Given the description of an element on the screen output the (x, y) to click on. 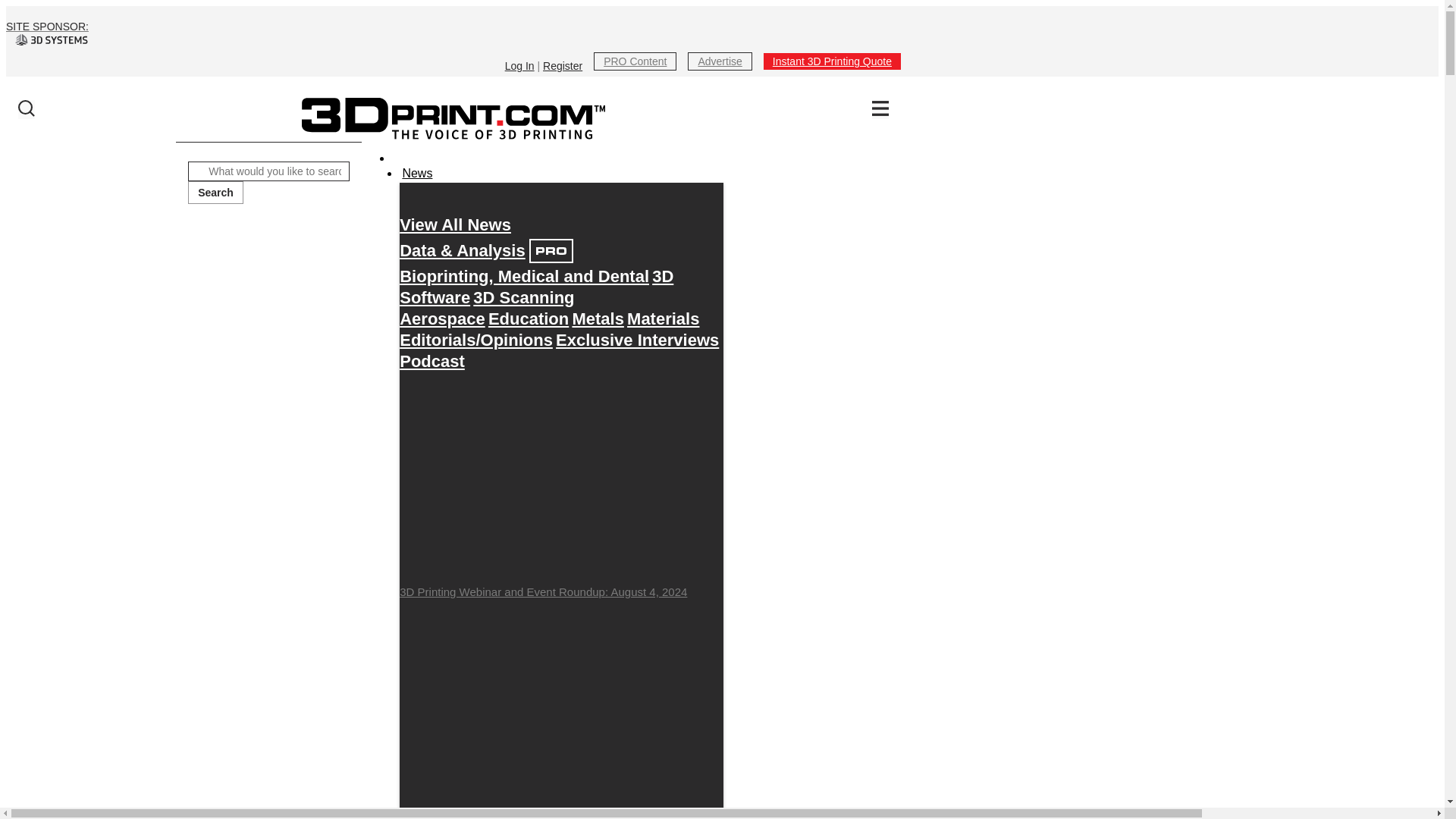
Bioprinting, Medical and Dental (523, 276)
Podcast (431, 360)
3D Scanning (523, 297)
Advertise (719, 60)
PRO Content (635, 60)
Aerospace (441, 318)
3D Printing Webinar and Event Roundup: August 4, 2024 (560, 485)
Instant 3D Printing Quote (831, 60)
Register (562, 65)
Log In (519, 65)
View All News (454, 224)
Metals (597, 318)
Search (215, 191)
News (415, 173)
Exclusive Interviews (637, 339)
